Given the description of an element on the screen output the (x, y) to click on. 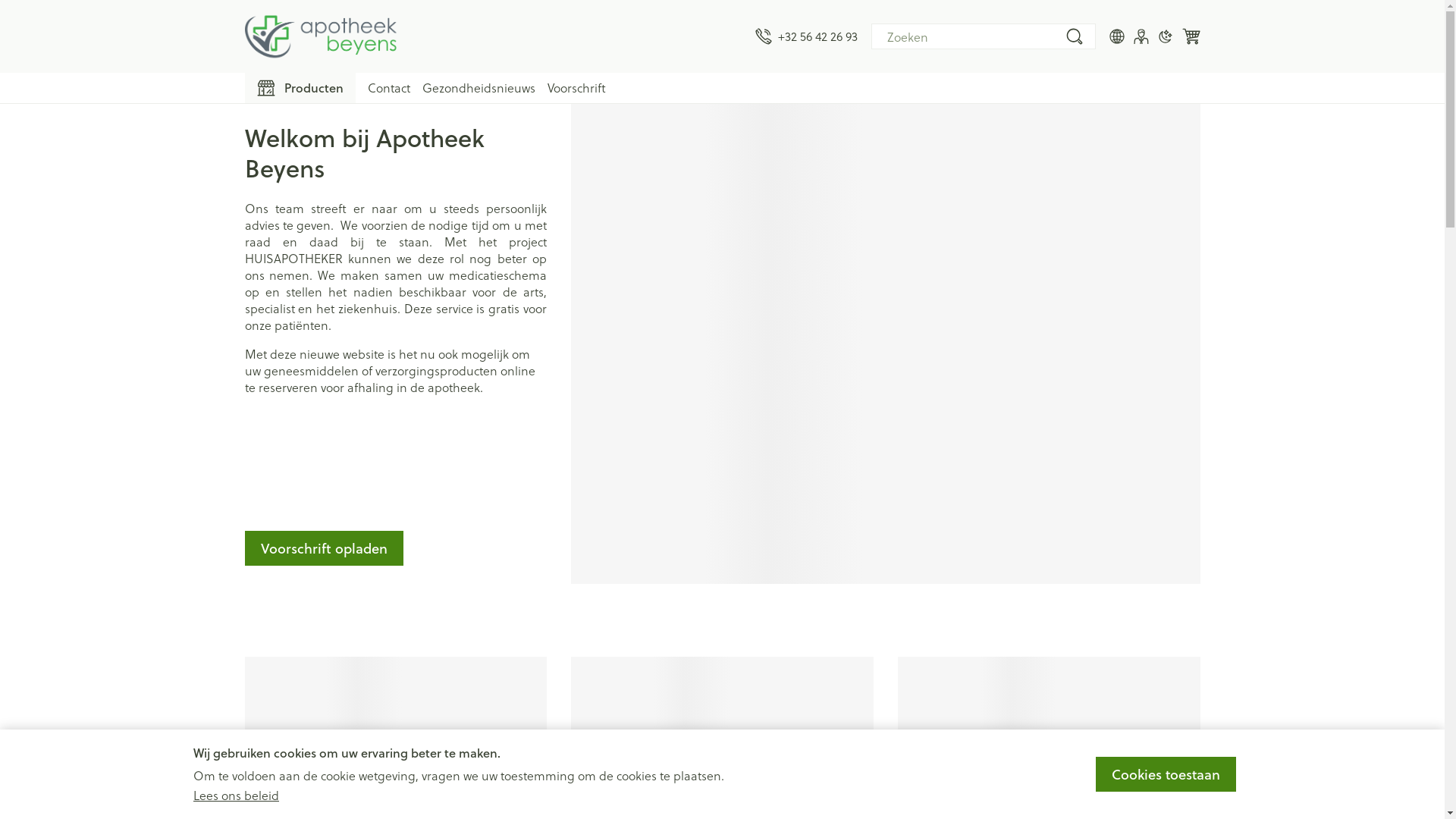
+32 56 42 26 93 Element type: text (806, 36)
Contact Element type: text (388, 87)
Talen Element type: text (1115, 35)
Gezondheidsnieuws Element type: text (477, 87)
Apotheek Beyens Element type: hover (319, 35)
Lees ons beleid Element type: text (236, 794)
Apotheek Beyens Element type: hover (493, 36)
Voorschrift Element type: text (576, 87)
Winkelwagen Element type: text (1190, 36)
Donkere modus Element type: text (1164, 35)
Voorschrift opladen Element type: text (323, 547)
Klant menu Element type: text (1140, 35)
Cookies toestaan Element type: text (1165, 773)
Zoeken Element type: text (1073, 36)
